Given the description of an element on the screen output the (x, y) to click on. 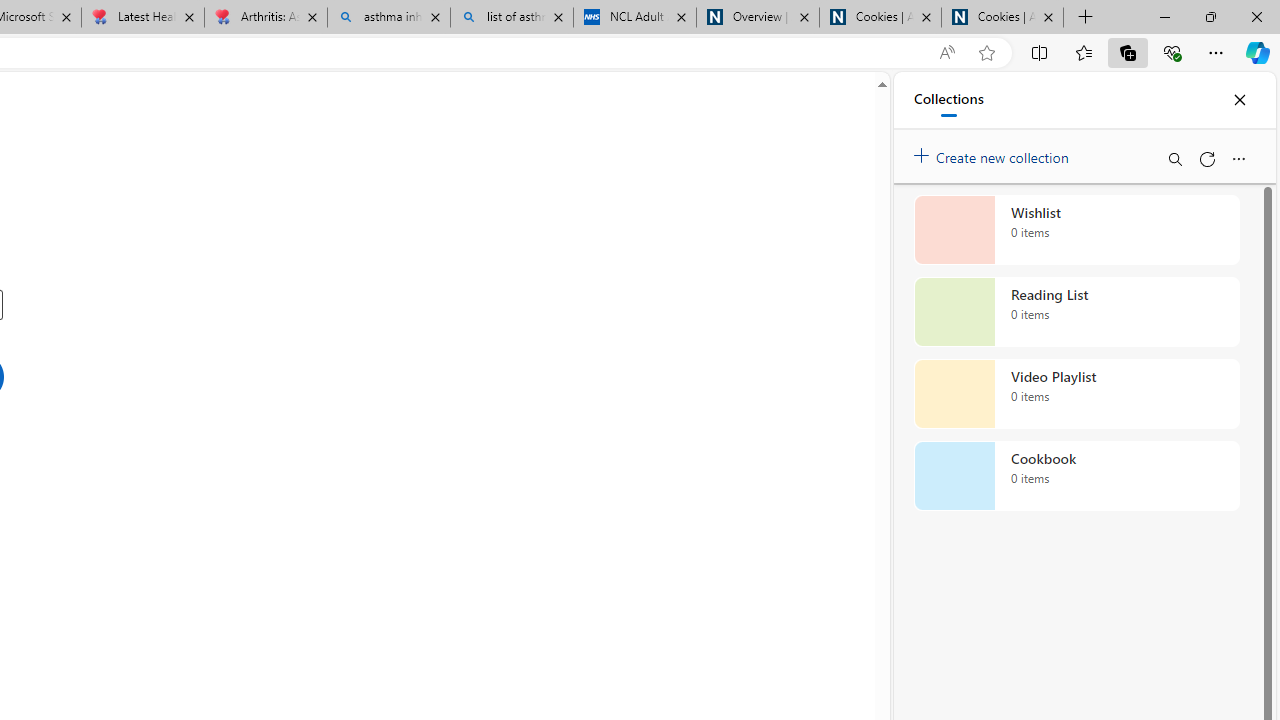
Cookies | About | NICE (1002, 17)
More options menu (1238, 158)
